Given the description of an element on the screen output the (x, y) to click on. 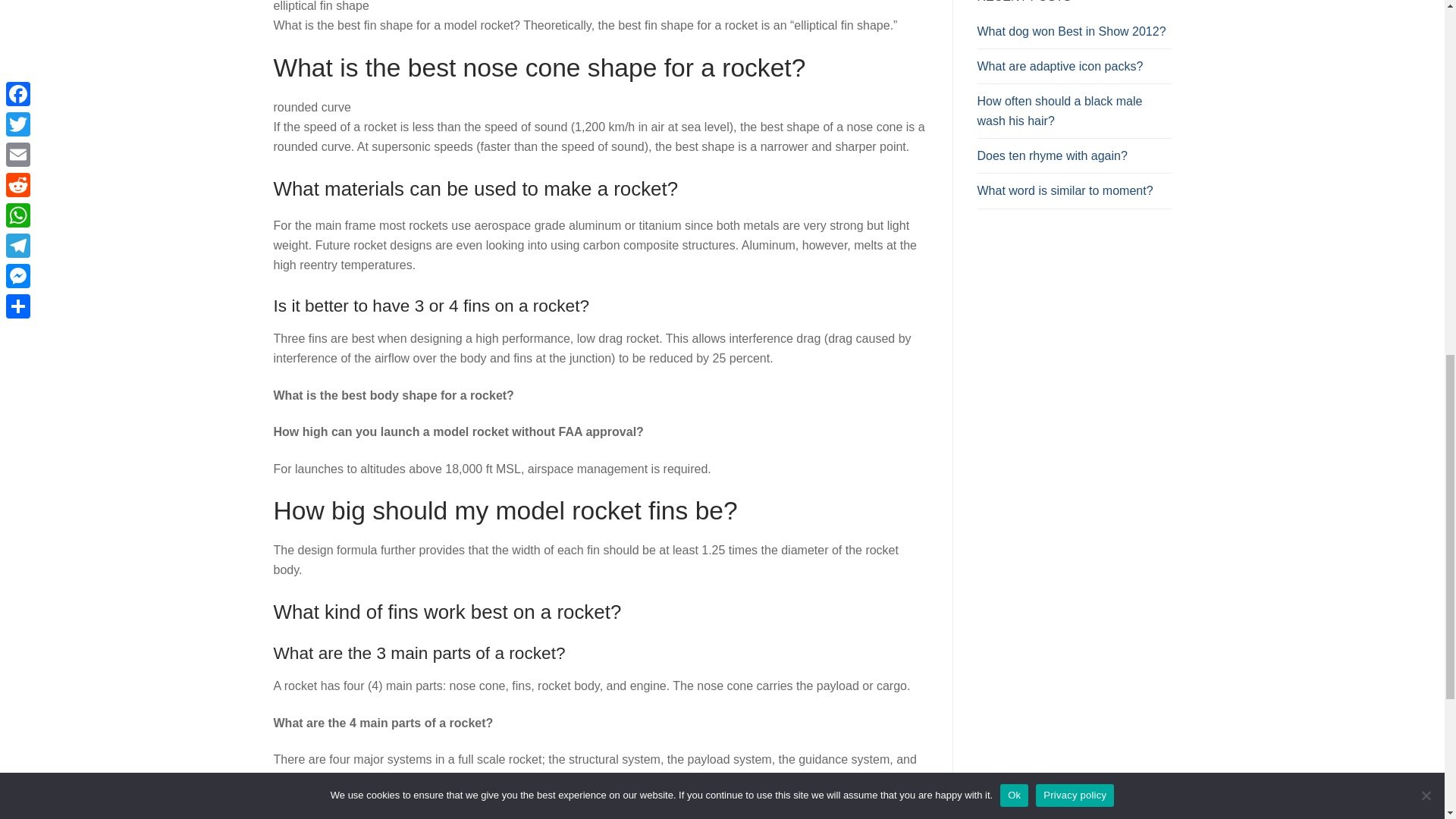
Twitter (317, 812)
Telegram (439, 812)
Reddit (379, 812)
Email (348, 812)
Facebook (287, 812)
Twitter (317, 812)
WhatsApp (409, 812)
Reddit (379, 812)
Telegram (439, 812)
WhatsApp (409, 812)
